Given the description of an element on the screen output the (x, y) to click on. 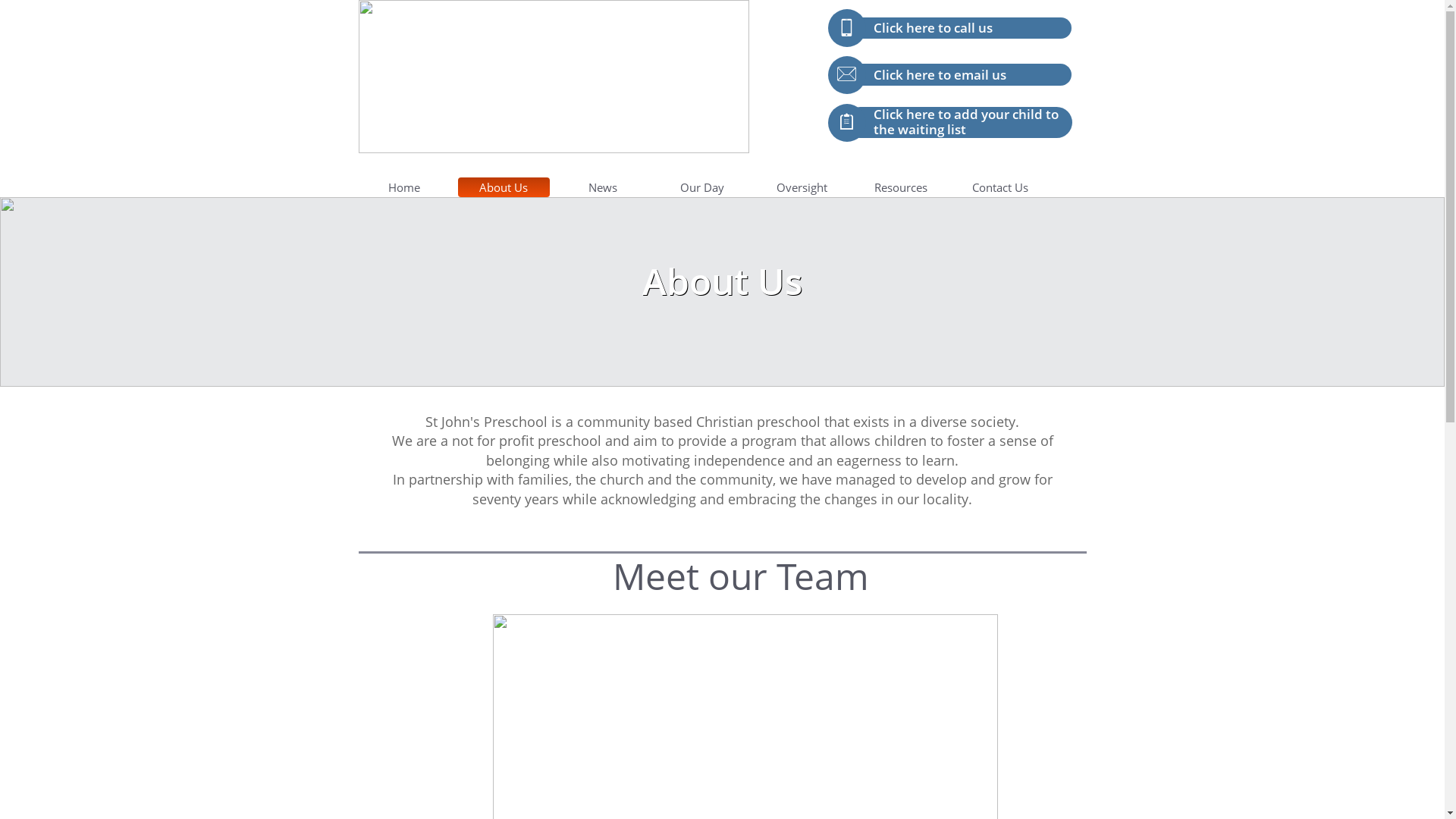
News Element type: text (602, 187)
Contact Us Element type: text (999, 187)
Resources Element type: text (901, 187)
Oversight Element type: text (801, 187)
About Us Element type: text (503, 187)
Home Element type: text (403, 187)
Our Day Element type: text (702, 187)
